Given the description of an element on the screen output the (x, y) to click on. 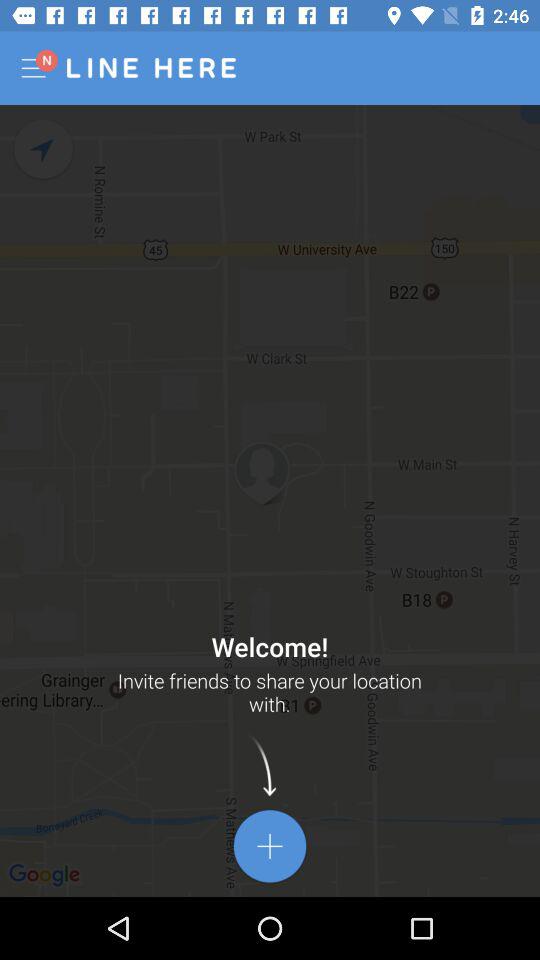
launch the item at the center (270, 500)
